Given the description of an element on the screen output the (x, y) to click on. 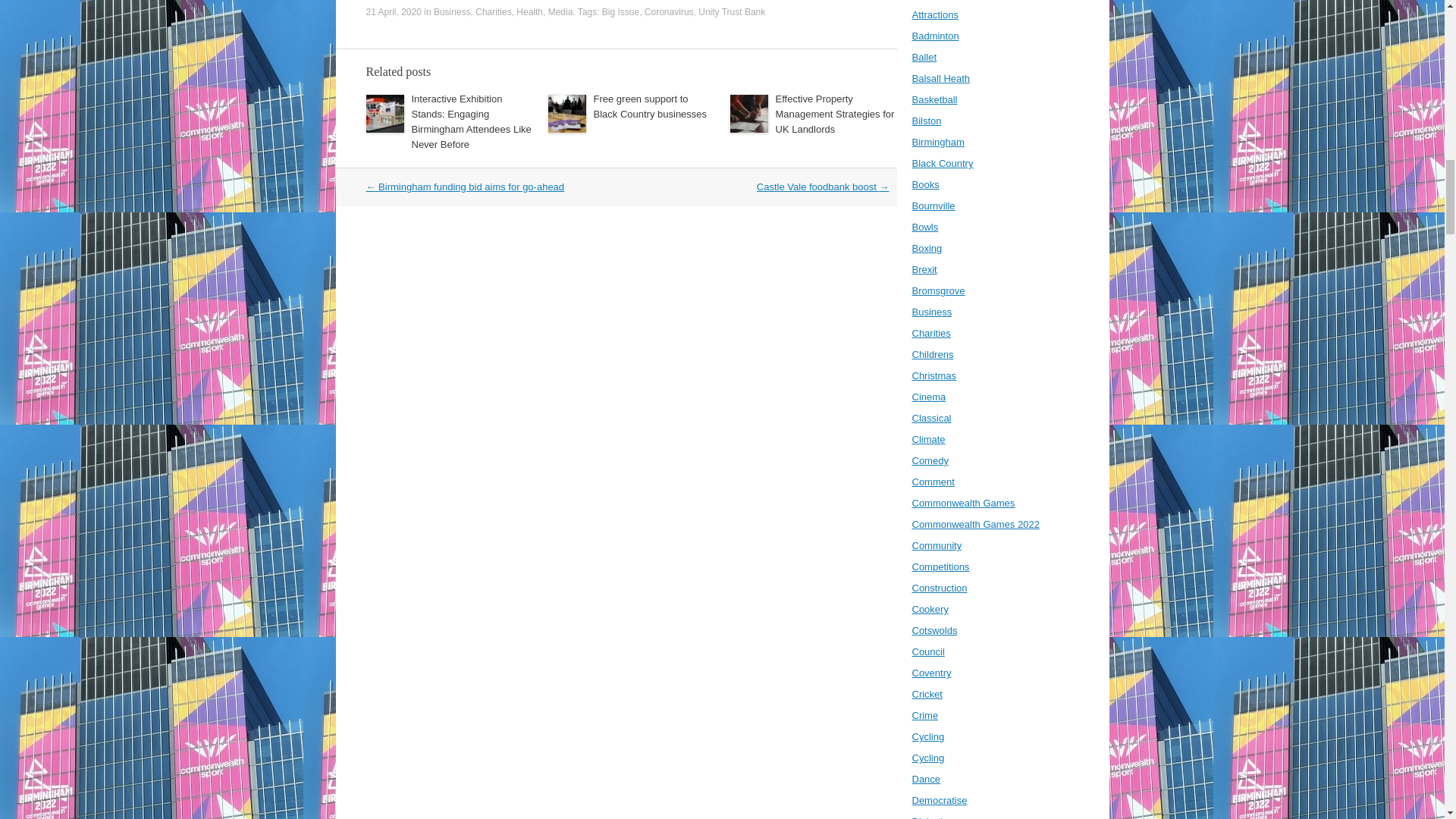
Media (560, 11)
Business (451, 11)
Effective Property Management Strategies for UK Landlords (833, 114)
Charities (493, 11)
Unity Trust Bank (731, 11)
Big Issue (620, 11)
Free green support to Black Country businesses (649, 106)
Permalink to Free green support to Black Country businesses (649, 106)
Health (529, 11)
Coronavirus (669, 11)
21 April, 2020 (392, 11)
